Given the description of an element on the screen output the (x, y) to click on. 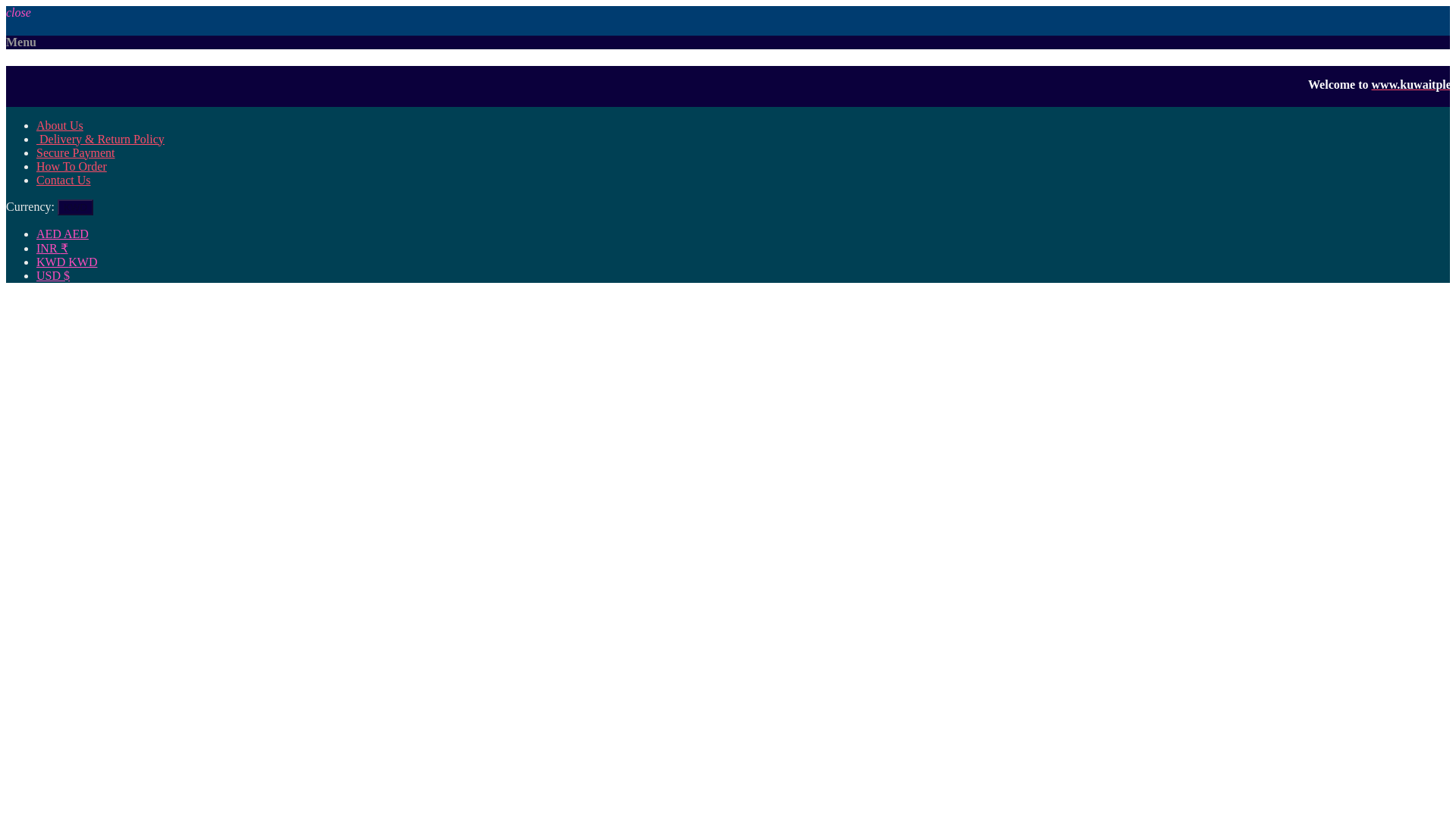
Contact Us (63, 179)
About Us (59, 124)
United Arab Emirates Dirham (62, 233)
Secure Payment (75, 152)
KWD KWD (66, 261)
Kuwaiti Dinar (66, 261)
AED AED (62, 233)
KWD (75, 207)
Indian Rupee (52, 247)
How To Order (71, 165)
